Given the description of an element on the screen output the (x, y) to click on. 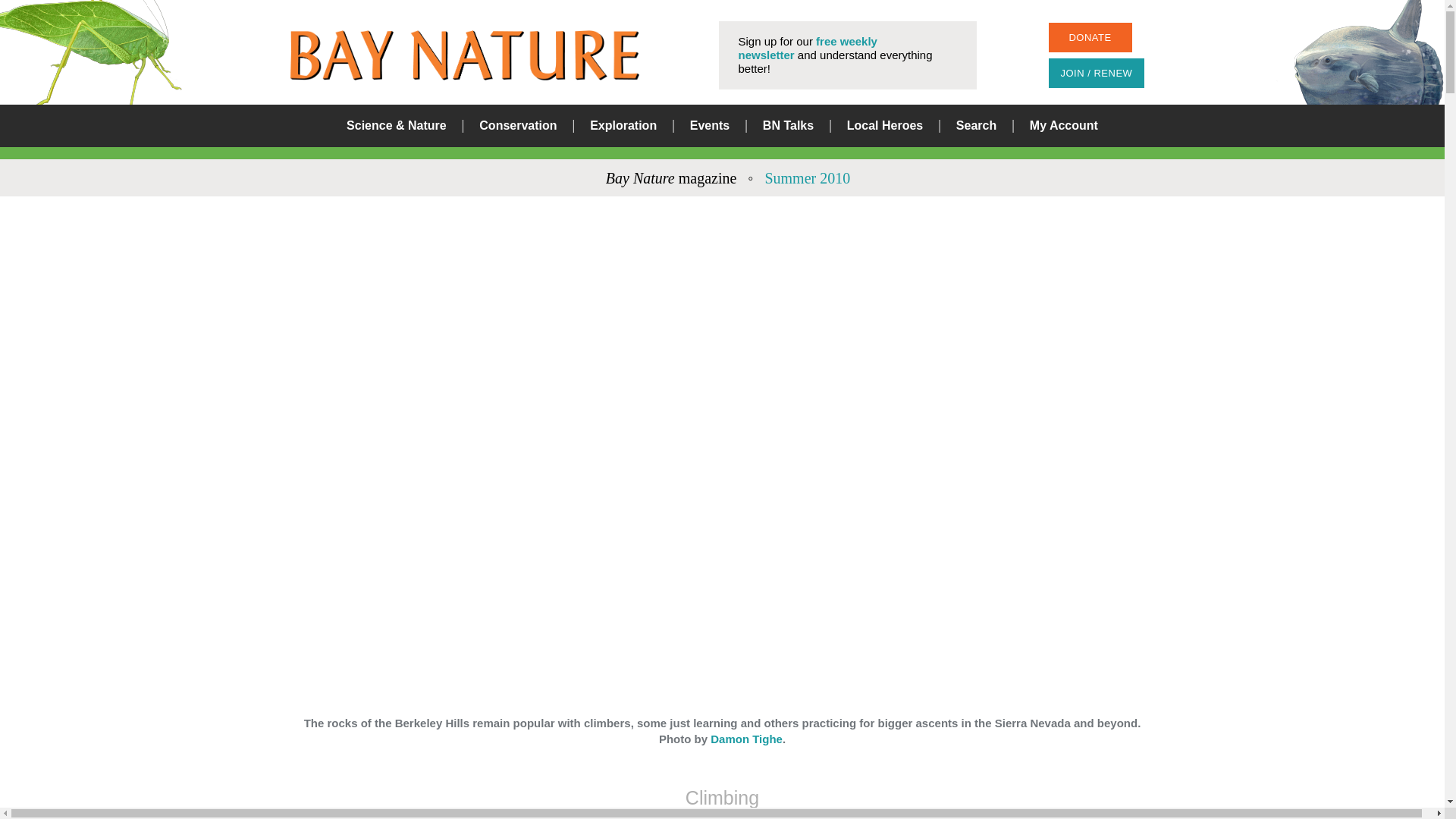
Damon Tighe (746, 738)
DONATE (1089, 37)
My Account (1063, 125)
free weekly newsletter (807, 48)
Events (709, 125)
Conservation (517, 125)
Search (879, 403)
Bay Nature (464, 54)
Summer 2010 (807, 177)
Local Heroes (885, 125)
